Given the description of an element on the screen output the (x, y) to click on. 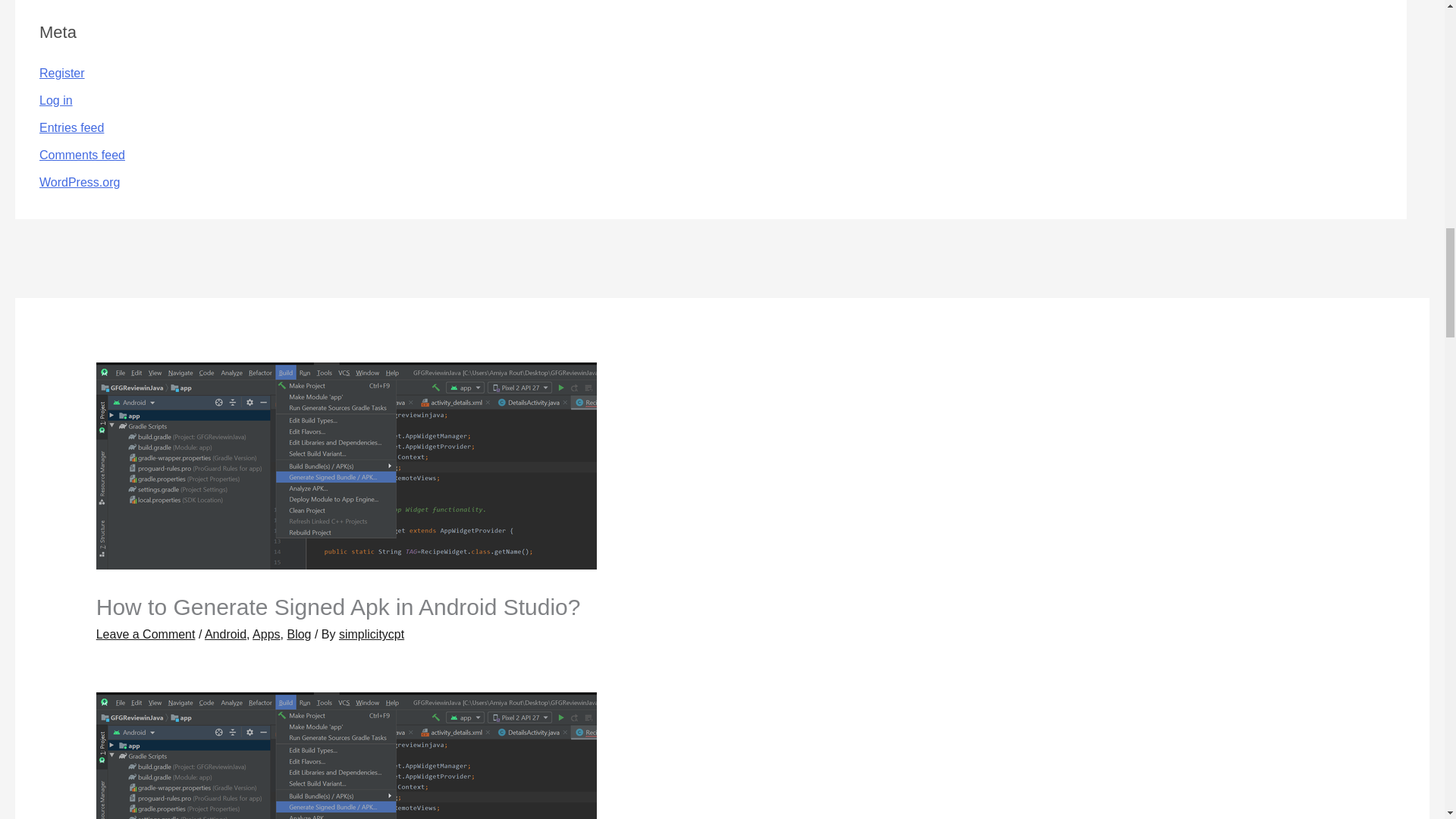
View all posts by simplicitycpt (371, 634)
